Given the description of an element on the screen output the (x, y) to click on. 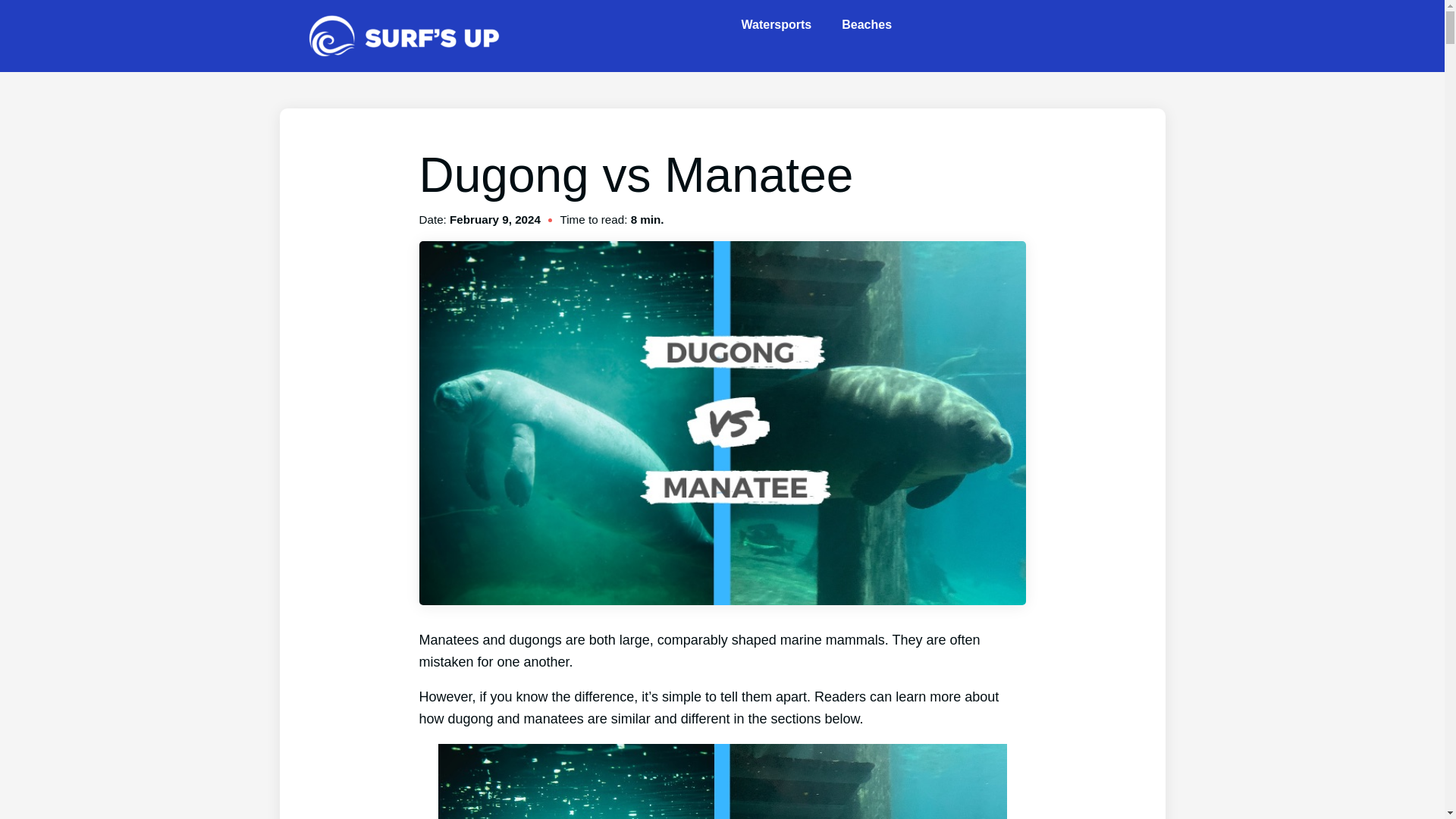
Watersports (779, 24)
Beaches (870, 24)
